Given the description of an element on the screen output the (x, y) to click on. 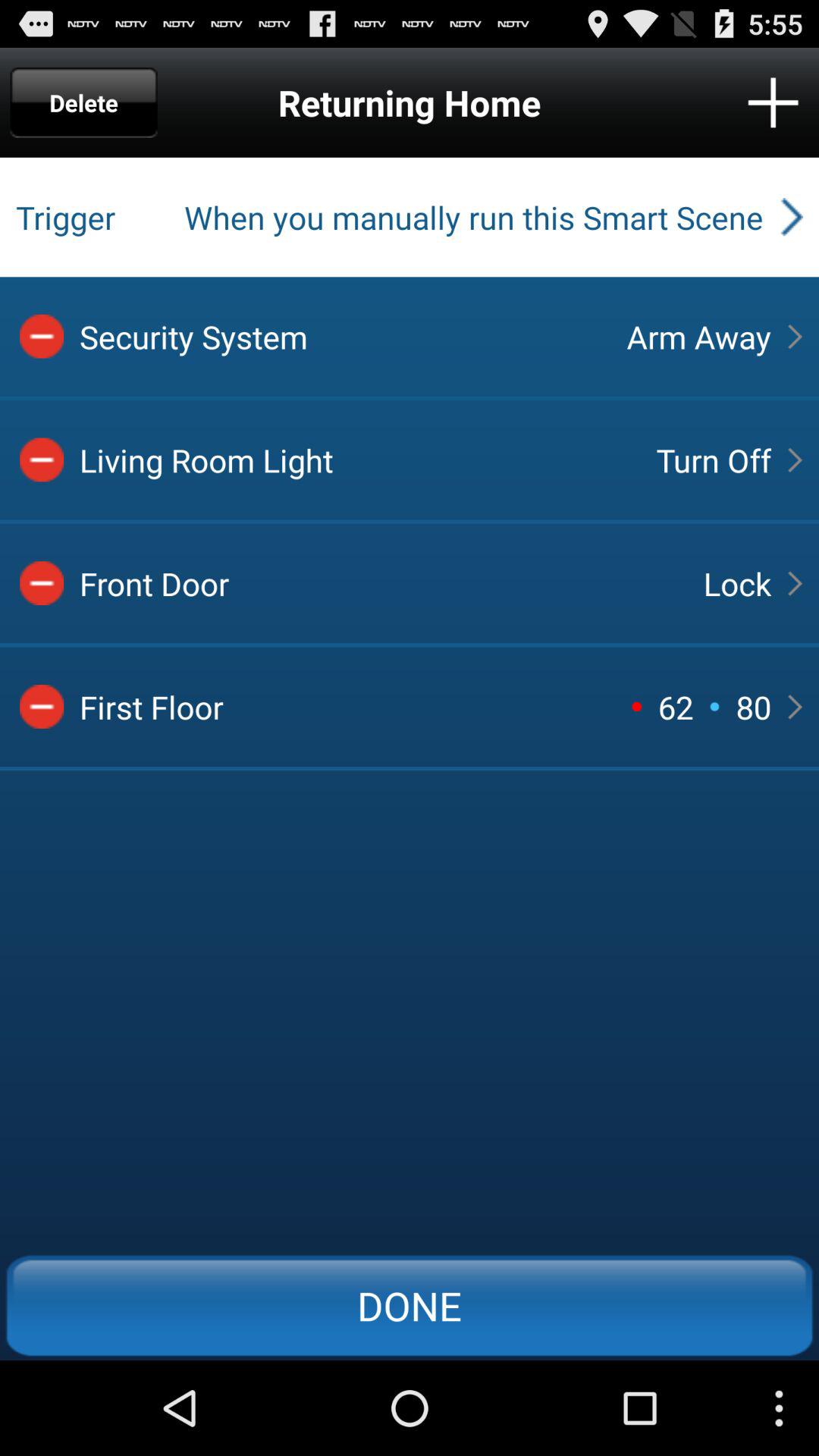
press app next to 62 (636, 706)
